Given the description of an element on the screen output the (x, y) to click on. 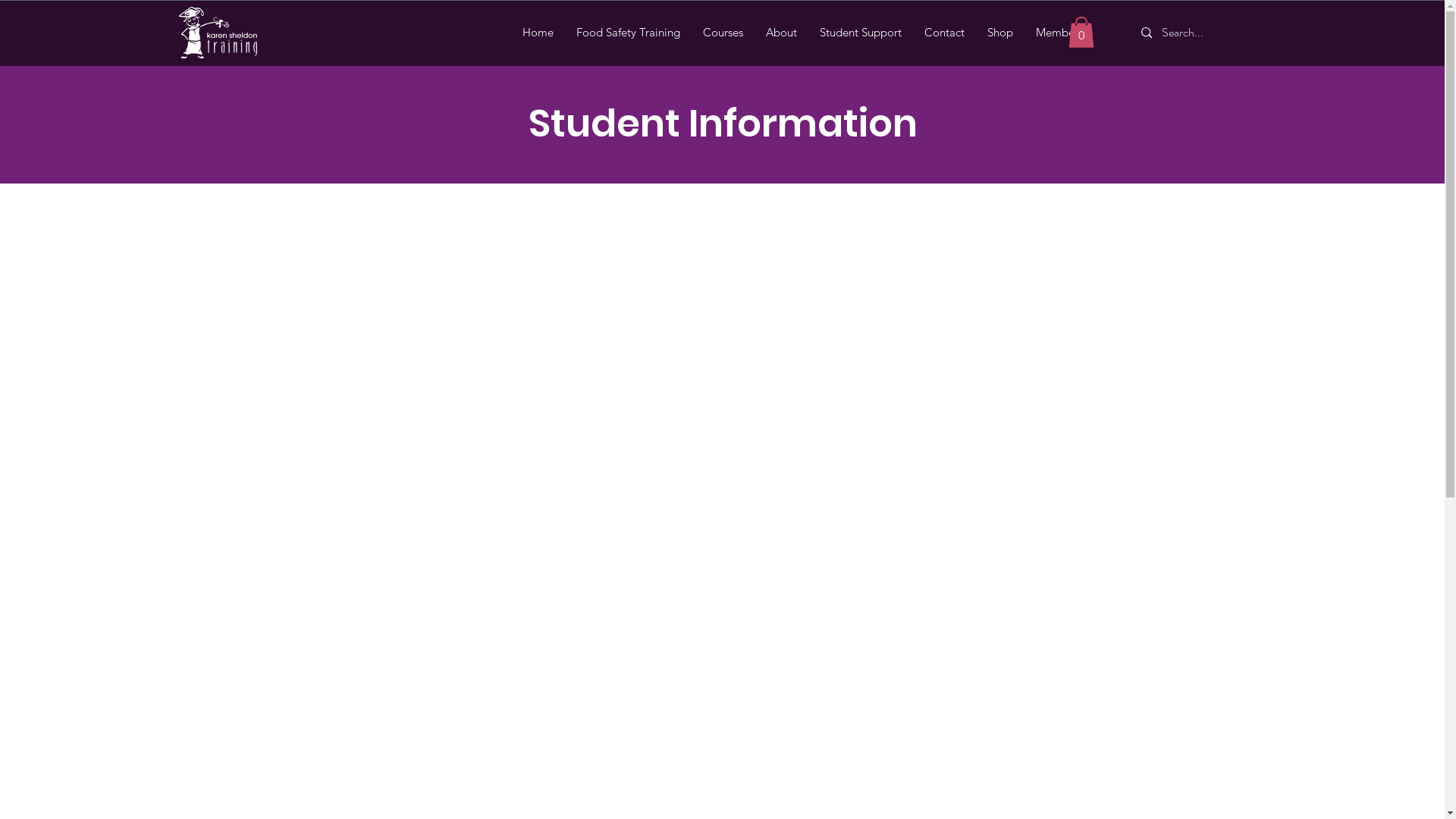
Members Element type: text (1059, 32)
About Element type: text (781, 32)
Student Support Element type: text (860, 32)
0 Element type: text (1080, 31)
Food Safety Training Element type: text (627, 32)
Courses Element type: text (722, 32)
Contact Element type: text (944, 32)
Shop Element type: text (999, 32)
Home Element type: text (537, 32)
